Given the description of an element on the screen output the (x, y) to click on. 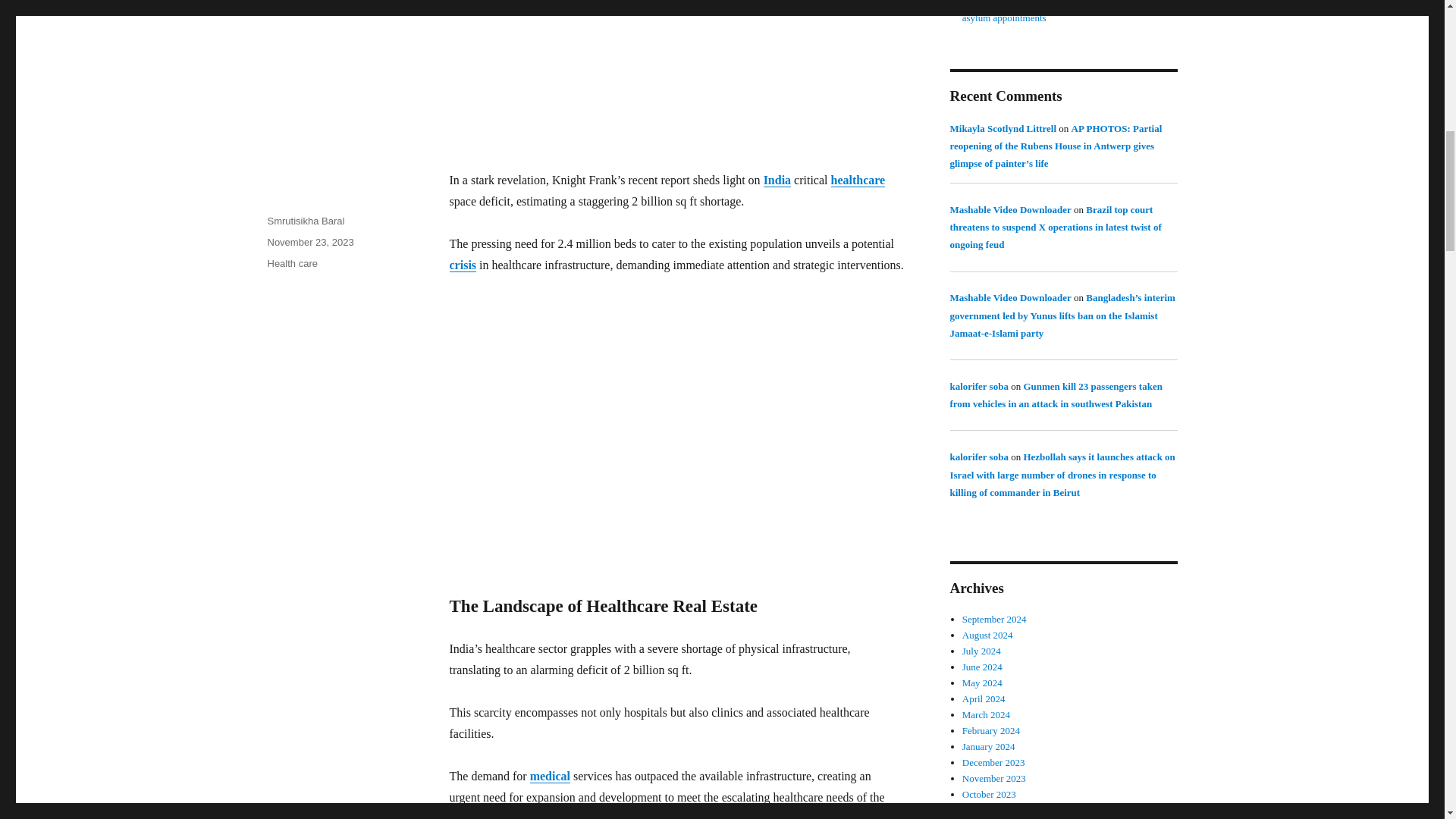
crisis (462, 264)
medical (549, 775)
England in Crisis :Healthcare Turmoil (462, 264)
India Secures 4-1 Series Win Over Australia in 5th T20I. (776, 179)
India (776, 179)
healthcare (858, 179)
